Given the description of an element on the screen output the (x, y) to click on. 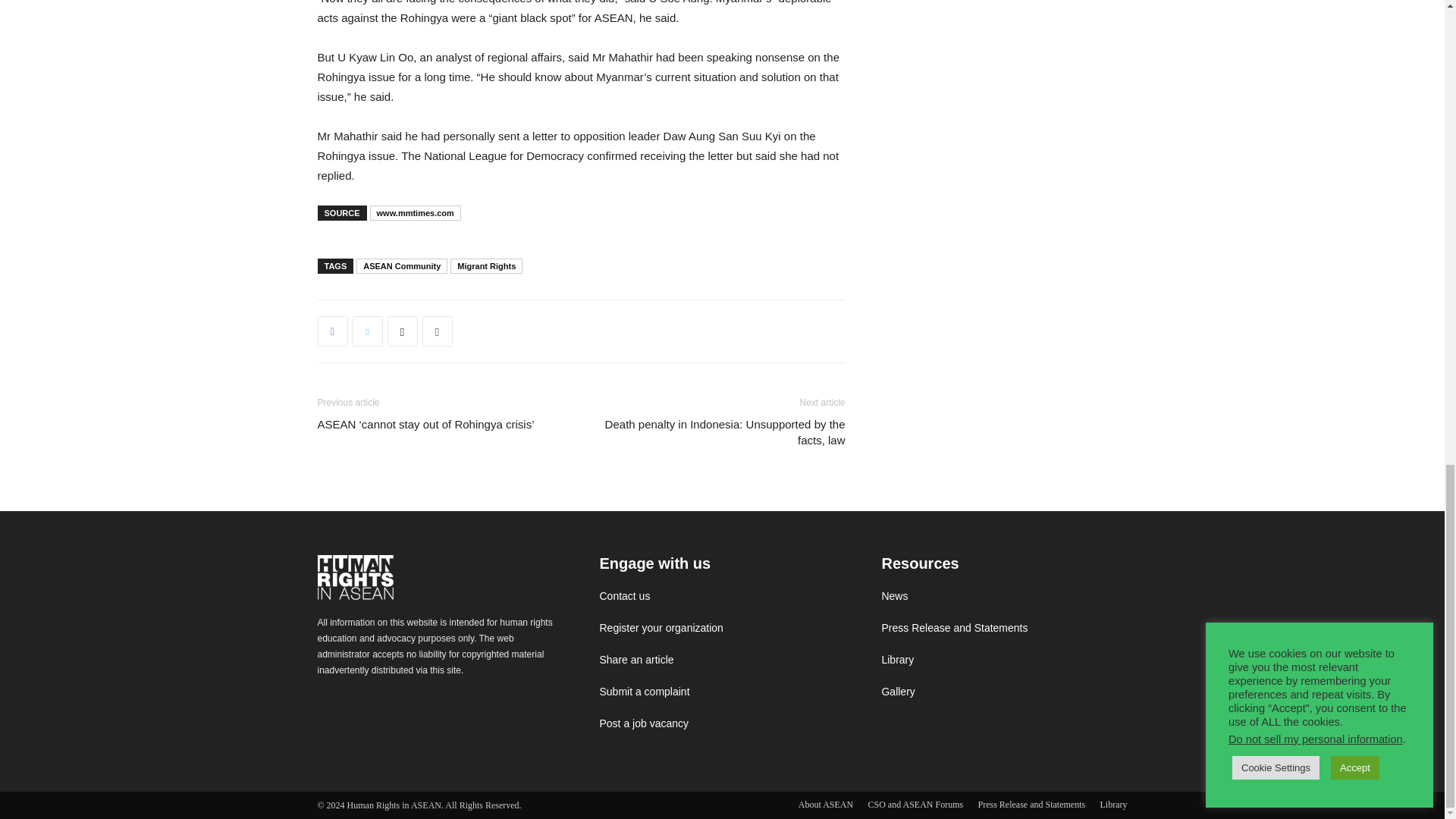
www.mmtimes.com (415, 212)
